Given the description of an element on the screen output the (x, y) to click on. 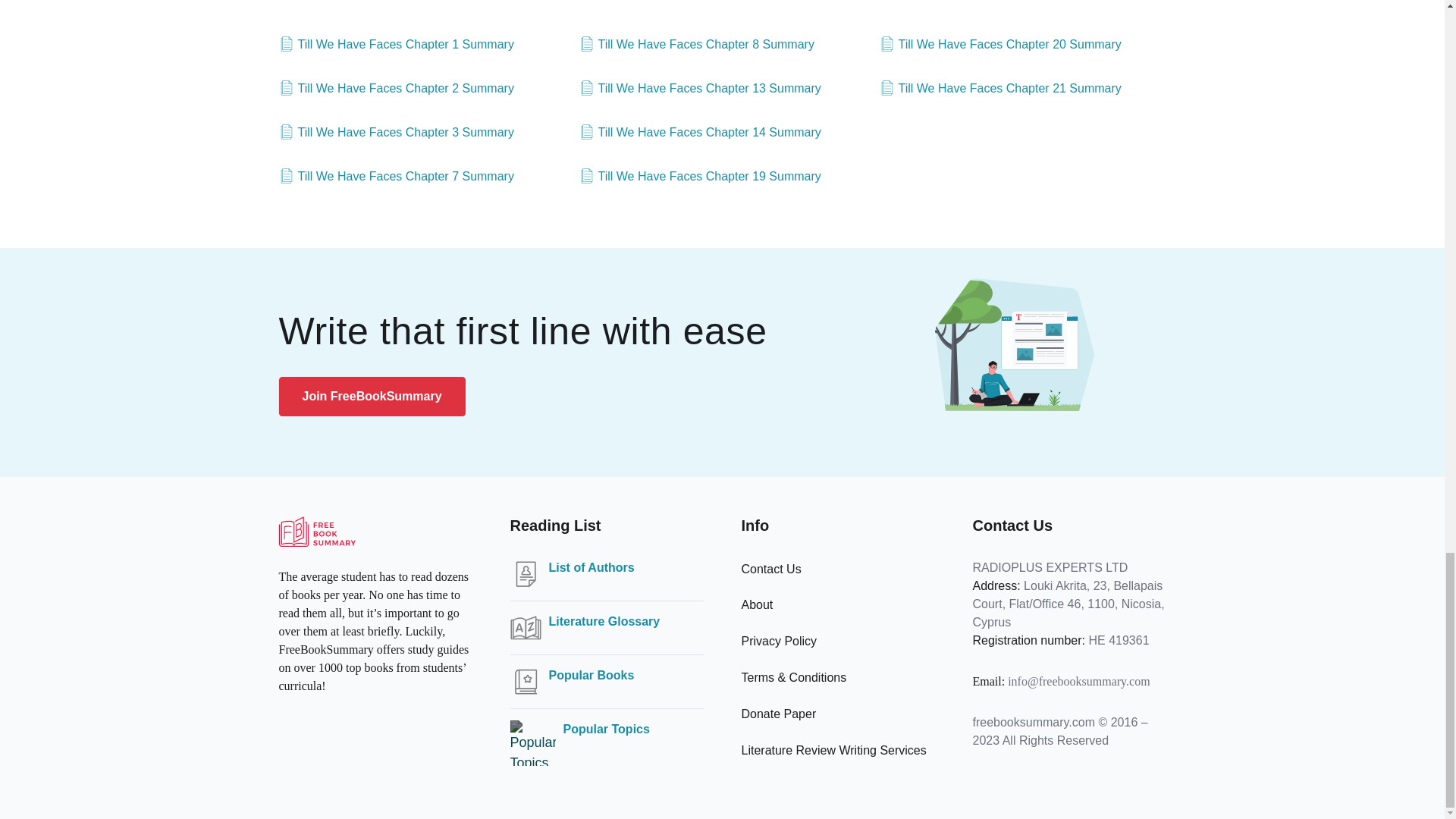
Till We Have Faces Chapter 7 Summary (396, 176)
Literature Glossary (604, 621)
Till We Have Faces Chapter 2 Summary (396, 88)
Till We Have Faces Chapter 1 Summary (396, 45)
Popular Topics (605, 729)
Privacy Policy (778, 640)
Contact Us (771, 568)
List of Authors (591, 567)
Popular Books (591, 675)
Till We Have Faces Chapter 20 Summary (1000, 45)
